Given the description of an element on the screen output the (x, y) to click on. 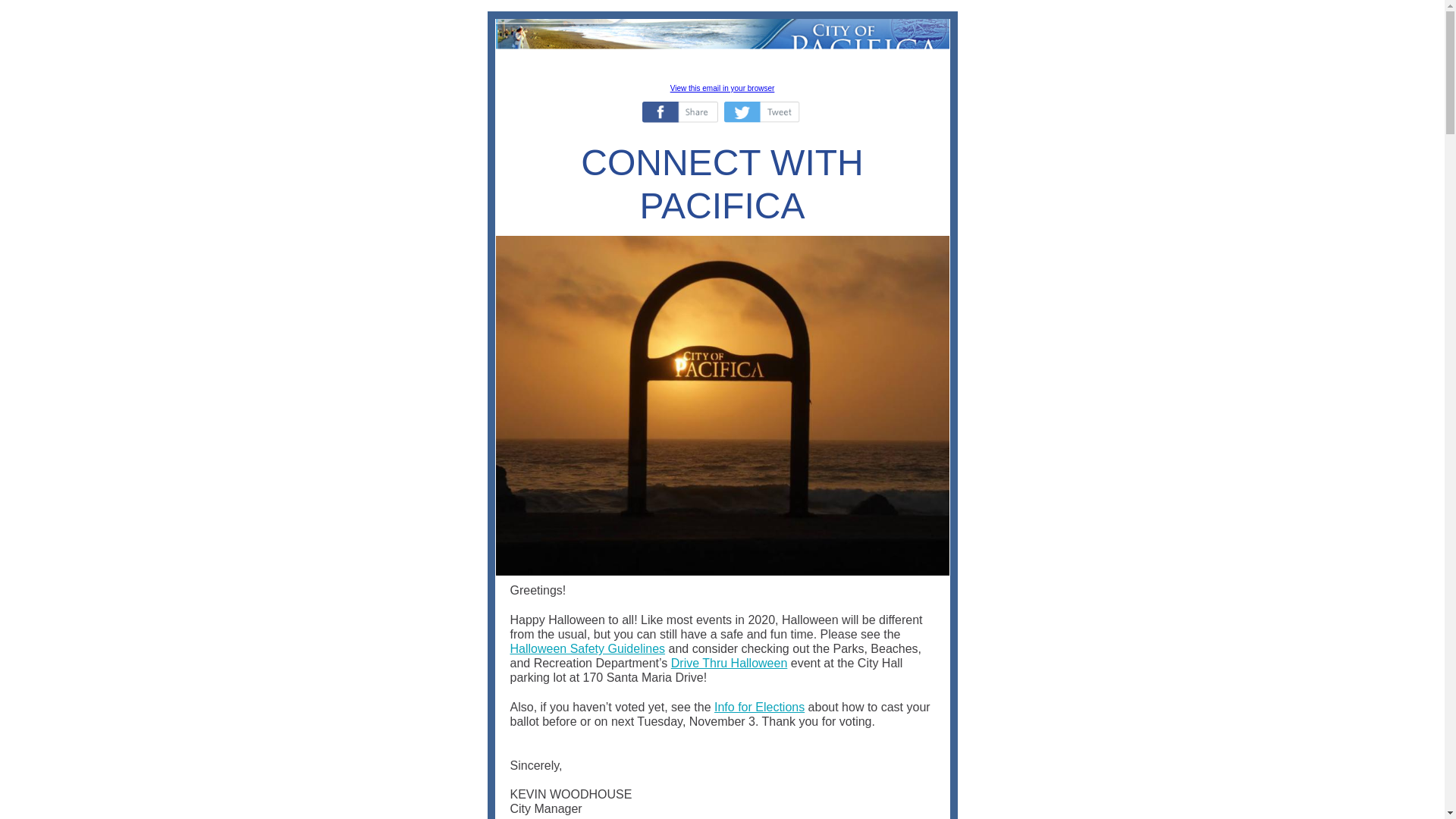
Halloween Safety Guidelines (587, 648)
Drive Thru Halloween (729, 662)
View this email in your browser (721, 88)
Info for Elections (759, 707)
